Given the description of an element on the screen output the (x, y) to click on. 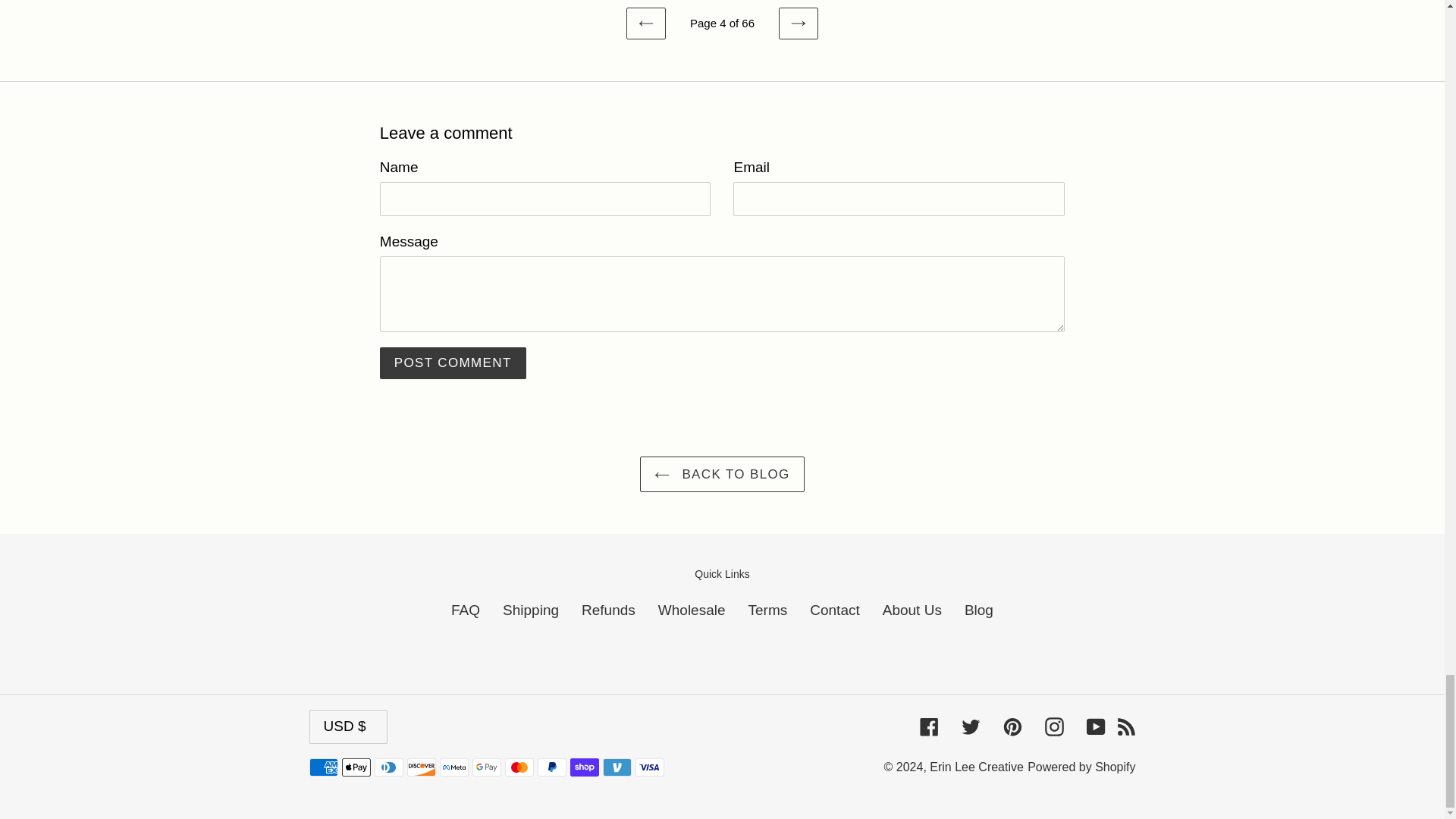
Post comment (452, 363)
